Given the description of an element on the screen output the (x, y) to click on. 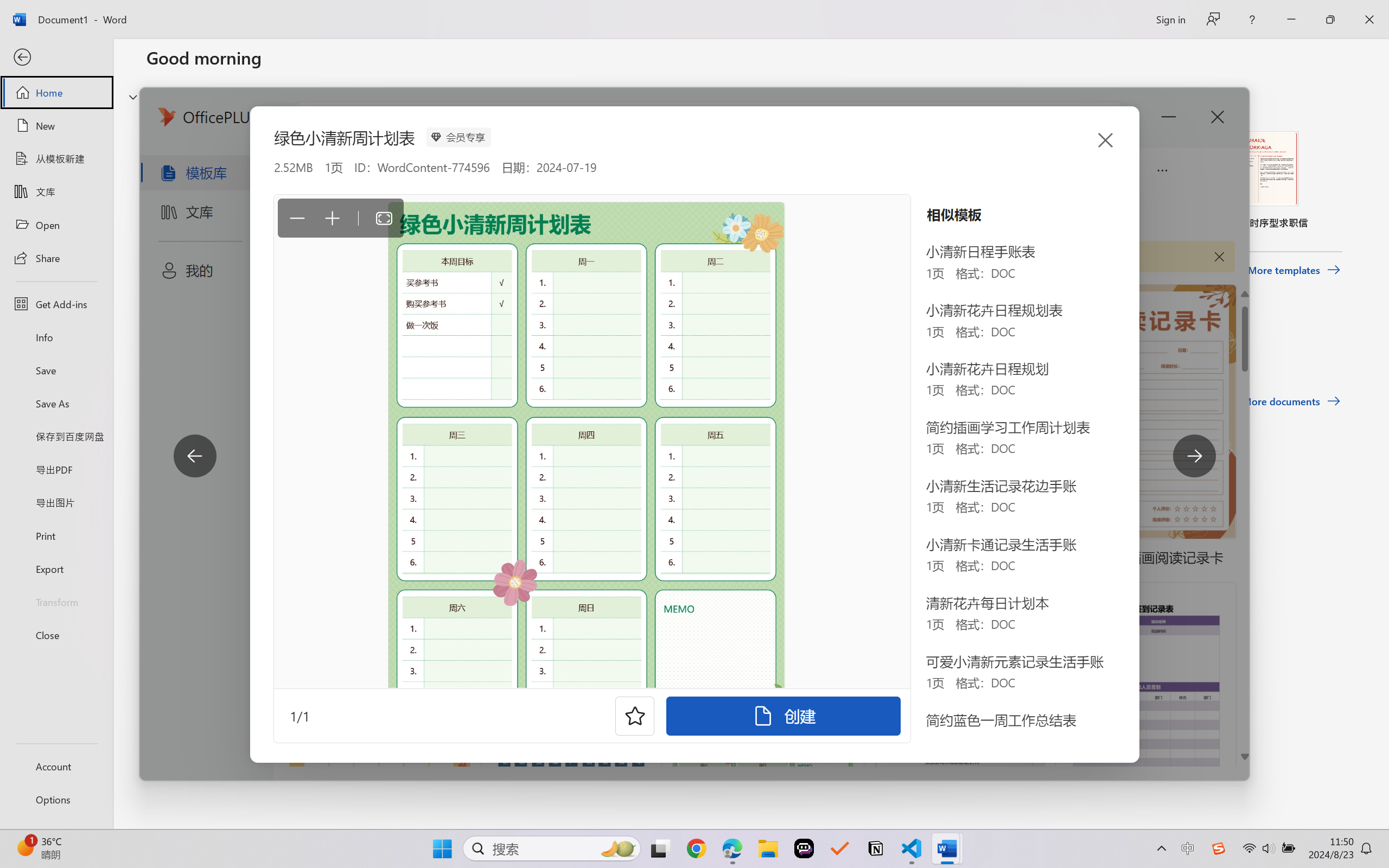
Info (56, 337)
Account (56, 765)
More documents (1290, 401)
